Given the description of an element on the screen output the (x, y) to click on. 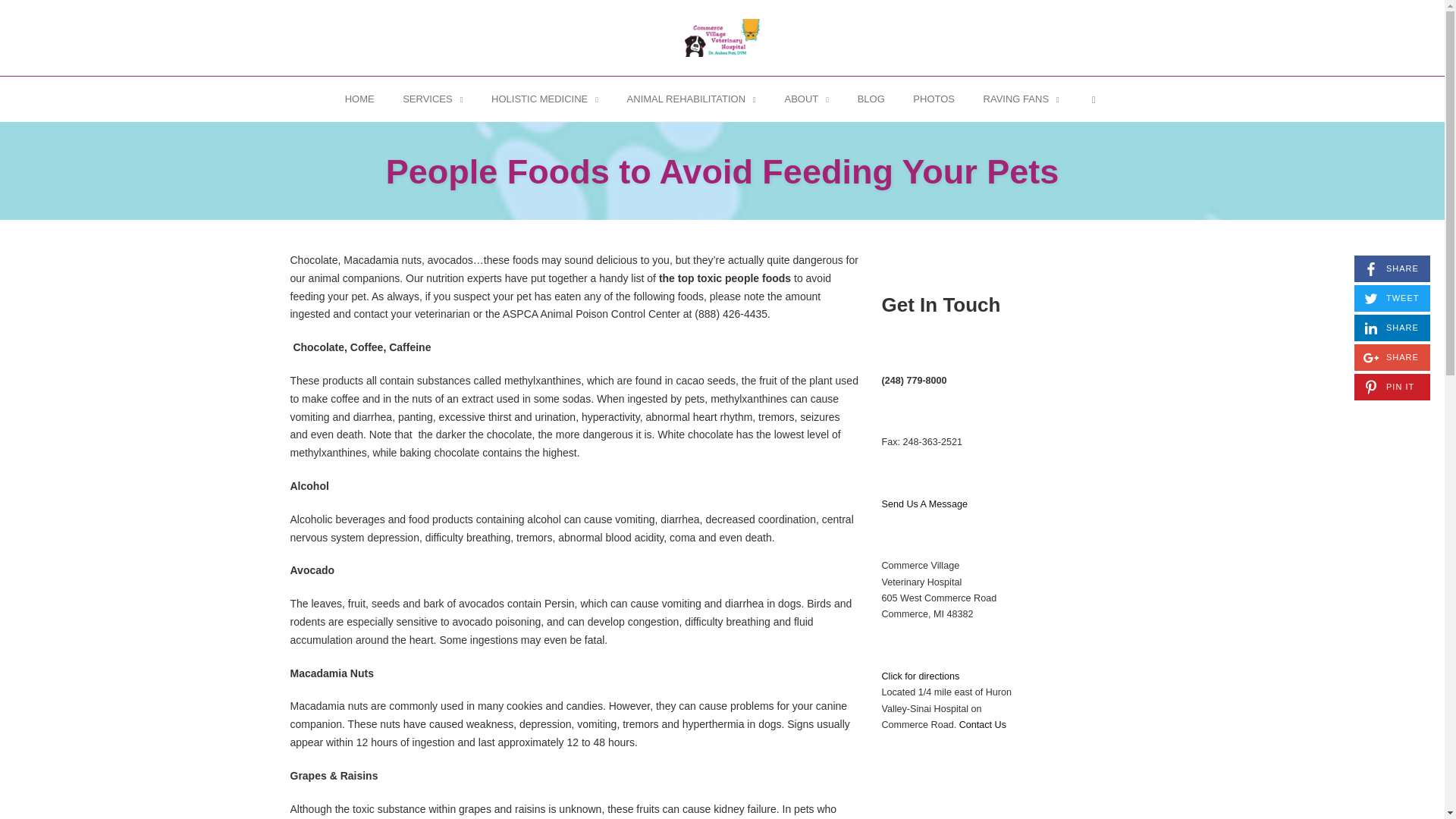
SERVICES (432, 97)
ANIMAL REHABILITATION (691, 97)
BLOG (870, 97)
PHOTOS (933, 97)
HOME (359, 97)
Commerce Village Veterinary Hospital (722, 37)
OPEN SEARCH FORM (1093, 97)
HOLISTIC MEDICINE (545, 97)
ABOUT (806, 97)
RAVING FANS (1021, 97)
